Given the description of an element on the screen output the (x, y) to click on. 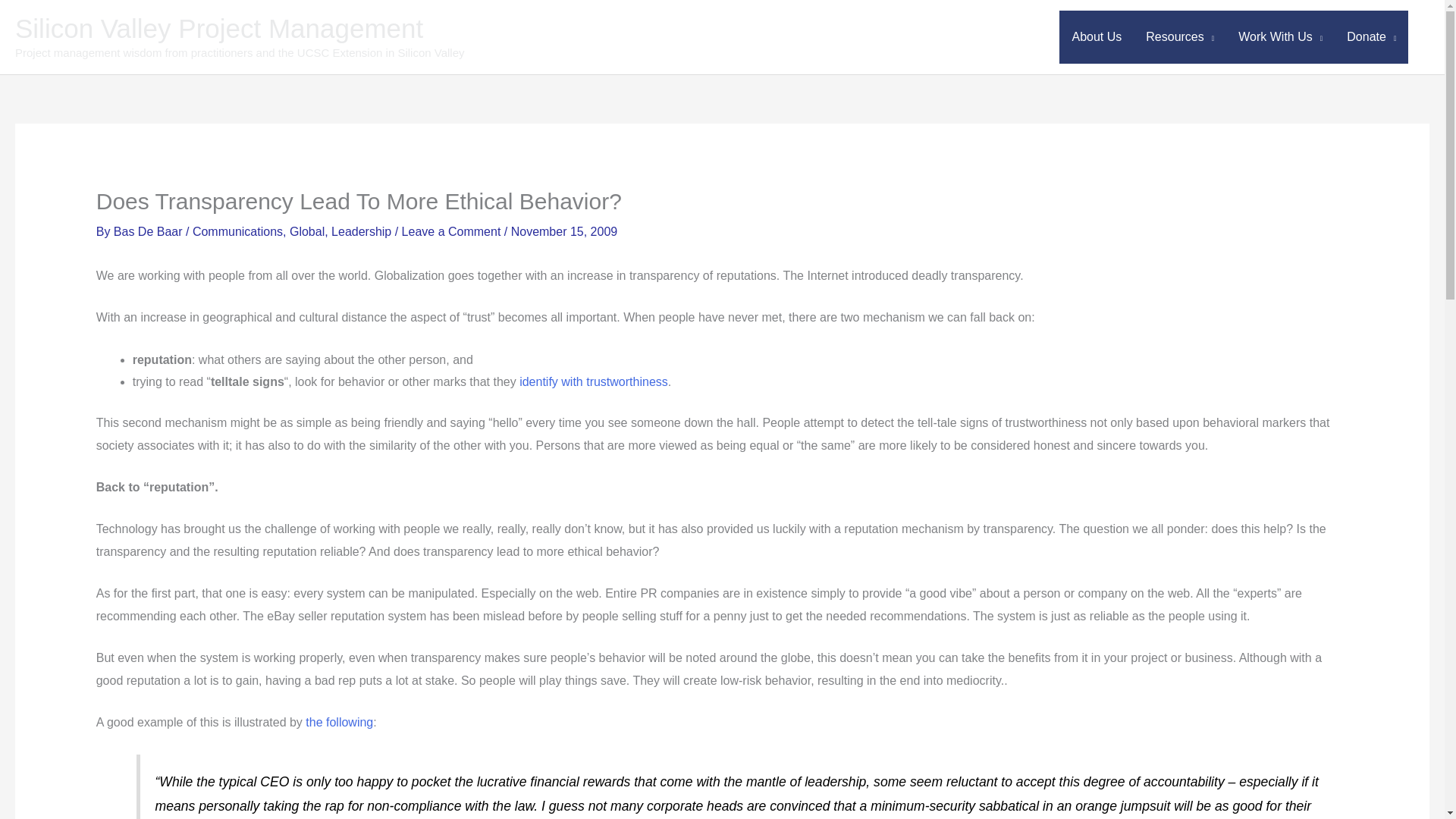
Donate (1371, 36)
Leadership (361, 231)
Communications (237, 231)
Silicon Valley Project Management (218, 28)
Global (306, 231)
View all posts by Bas De Baar (149, 231)
Resources (1179, 36)
Bas De Baar (149, 231)
About Us (1096, 36)
Work With Us (1280, 36)
